Given the description of an element on the screen output the (x, y) to click on. 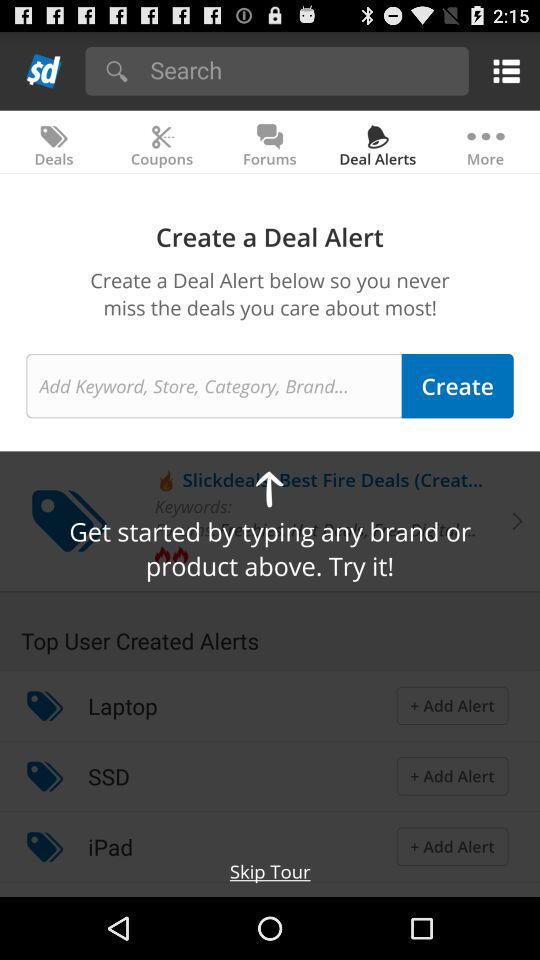
scroll until top user created item (270, 631)
